Given the description of an element on the screen output the (x, y) to click on. 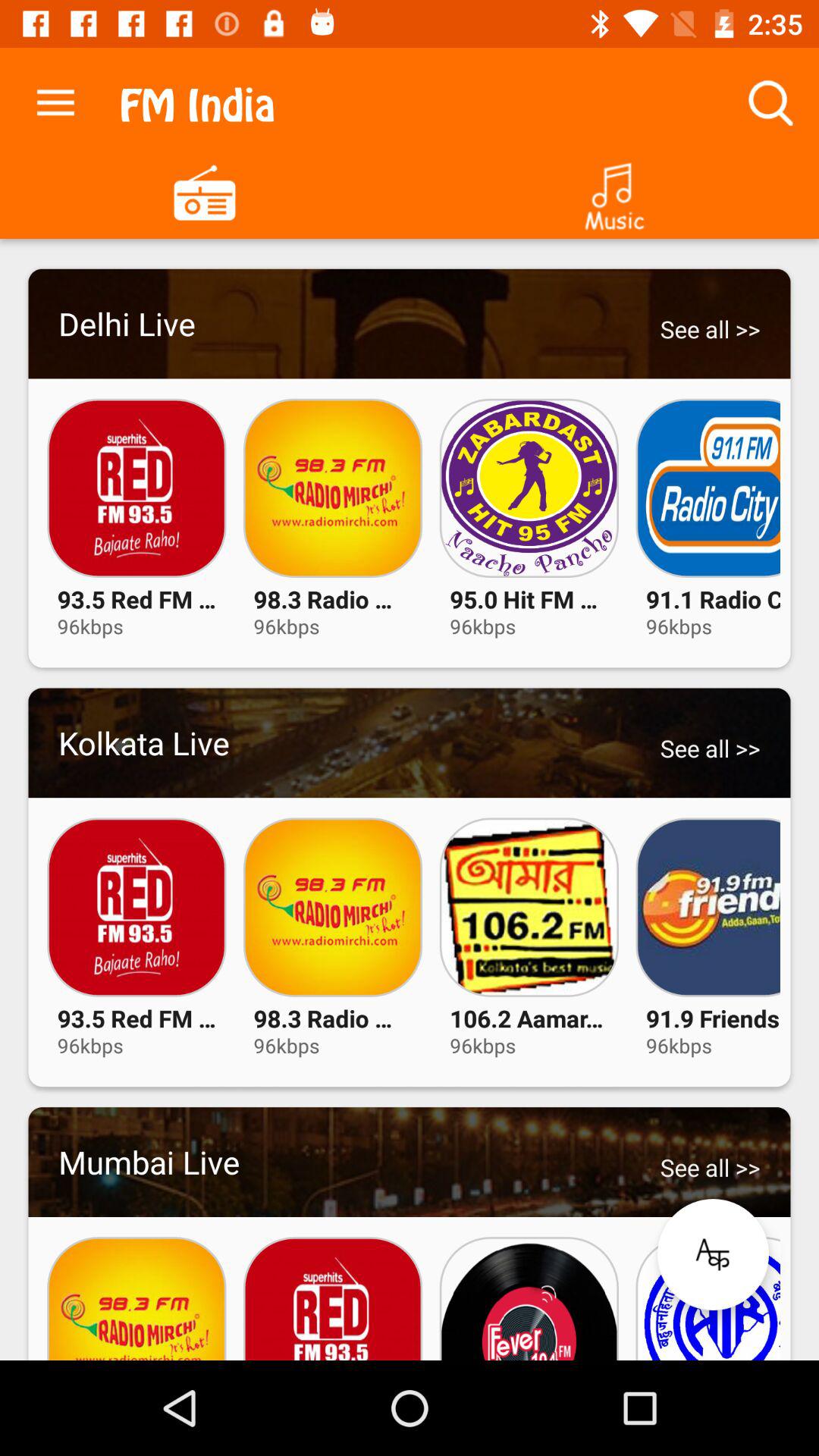
radio option (204, 190)
